Given the description of an element on the screen output the (x, y) to click on. 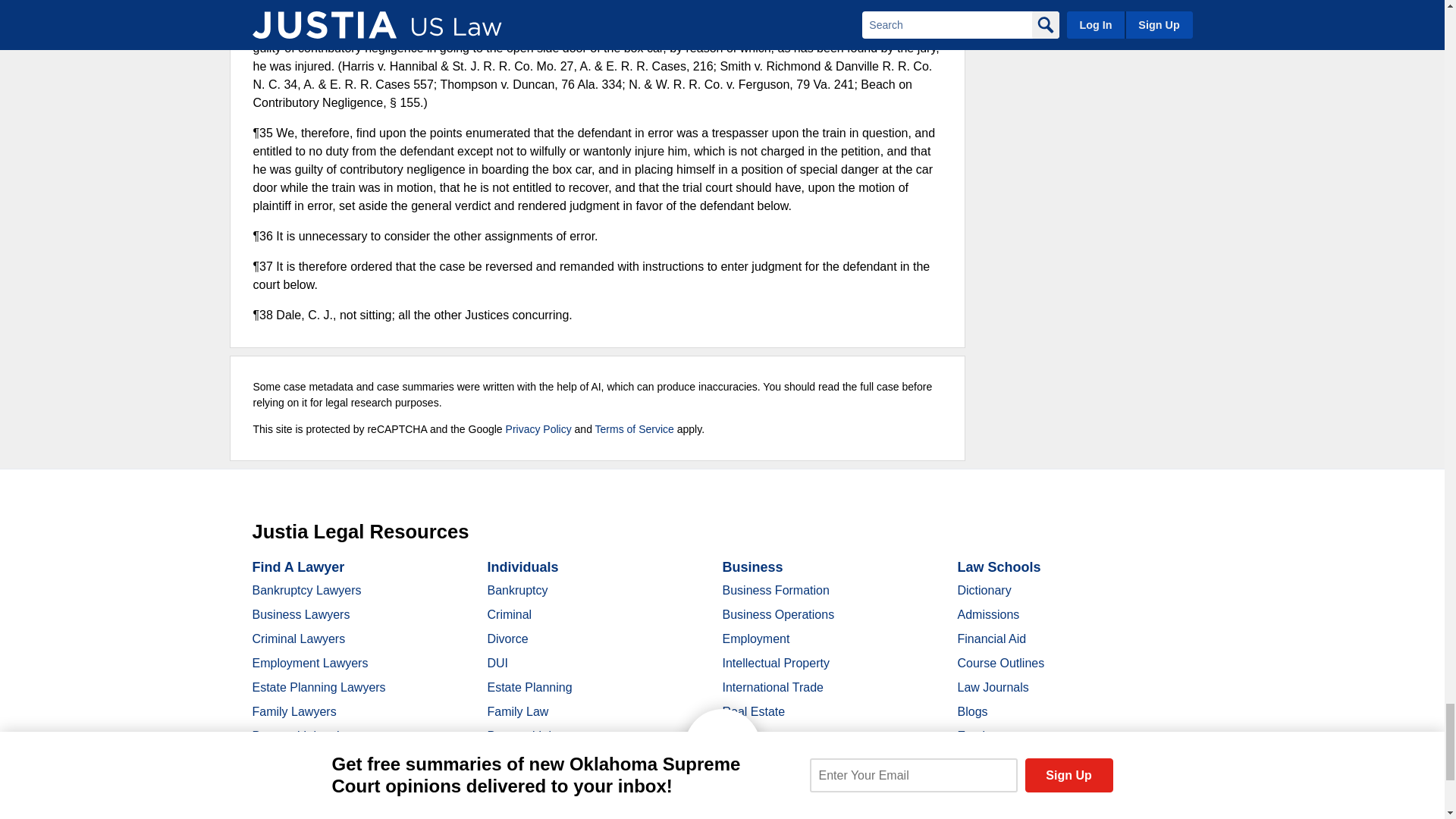
Terms of Service (634, 428)
Privacy Policy (538, 428)
